Given the description of an element on the screen output the (x, y) to click on. 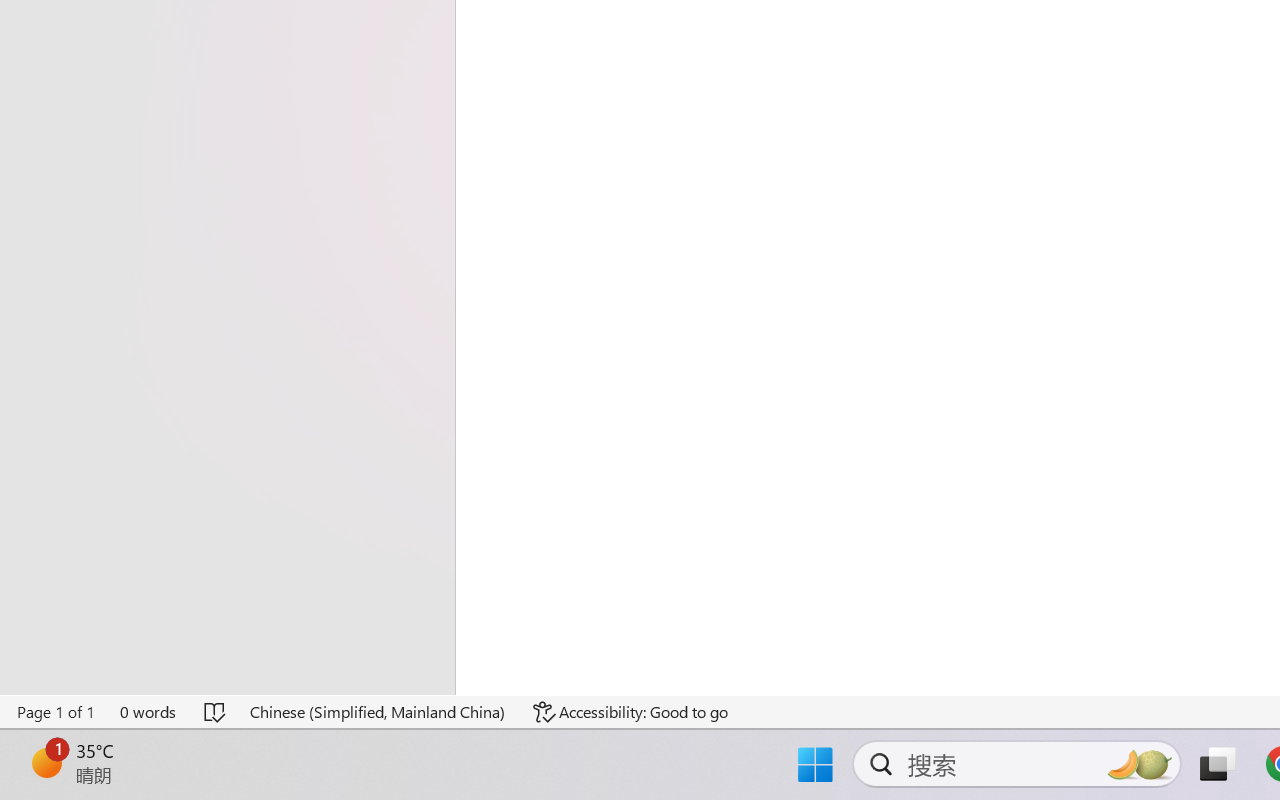
Language Chinese (Simplified, Mainland China) (378, 712)
